Given the description of an element on the screen output the (x, y) to click on. 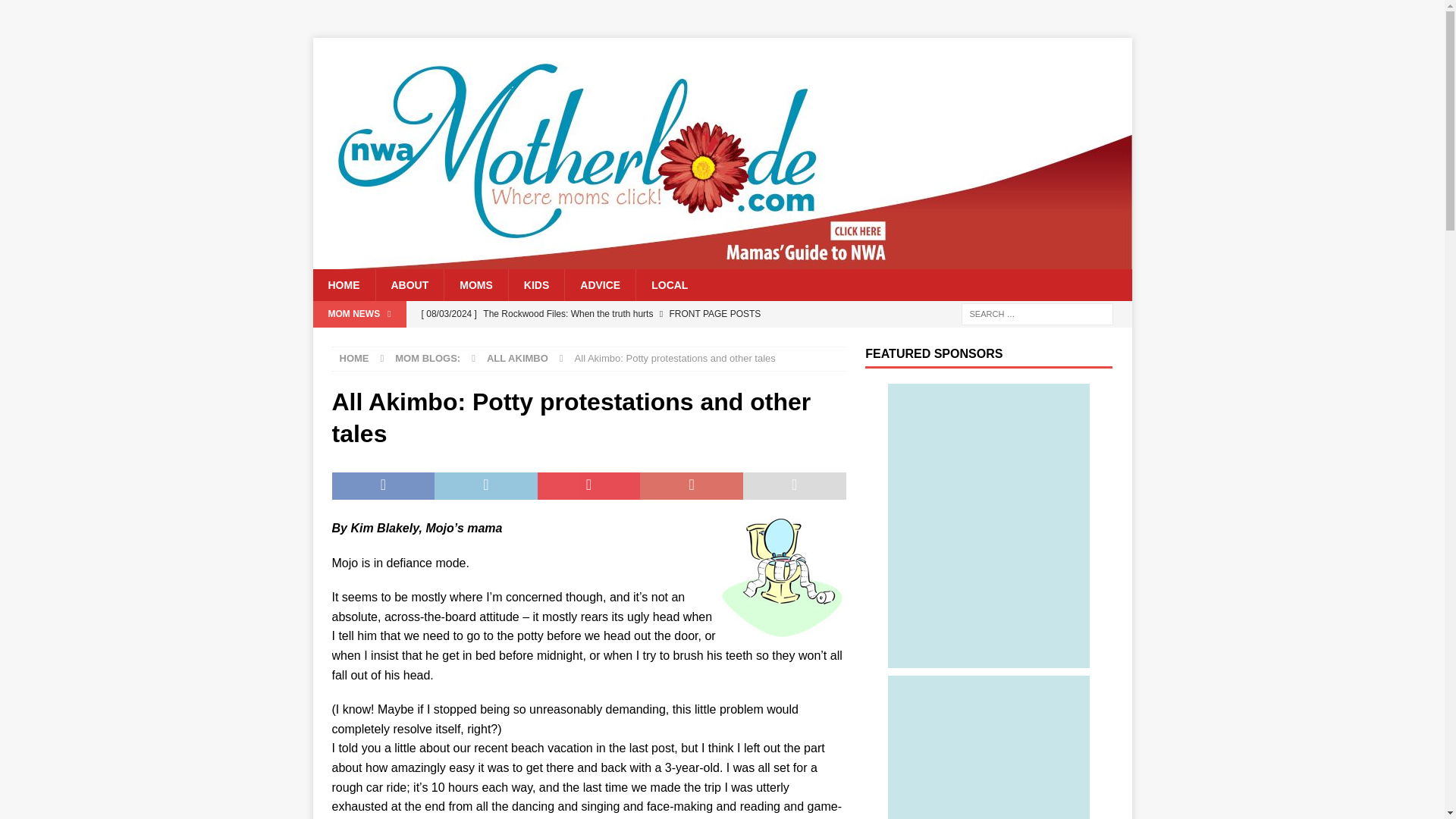
ALL AKIMBO (517, 357)
MOM BLOGS: (427, 357)
The Rockwood Files: When the truth hurts (629, 313)
KIDS (536, 285)
MOMS (476, 285)
ABOUT (409, 285)
HOME (354, 357)
ADVICE (599, 285)
Search (56, 11)
HOME (343, 285)
LOCAL (668, 285)
